Given the description of an element on the screen output the (x, y) to click on. 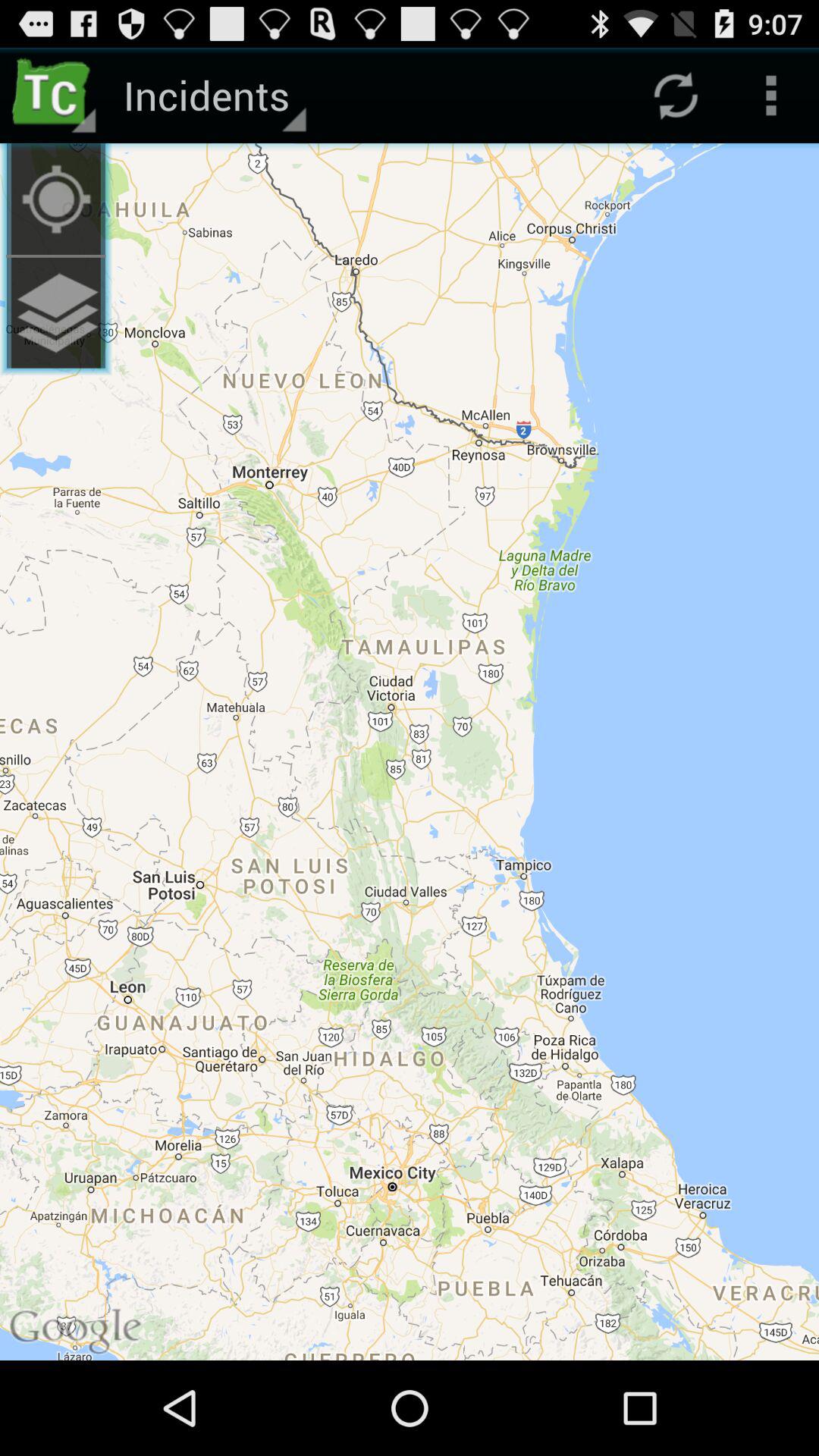
jump until incidents (212, 95)
